Given the description of an element on the screen output the (x, y) to click on. 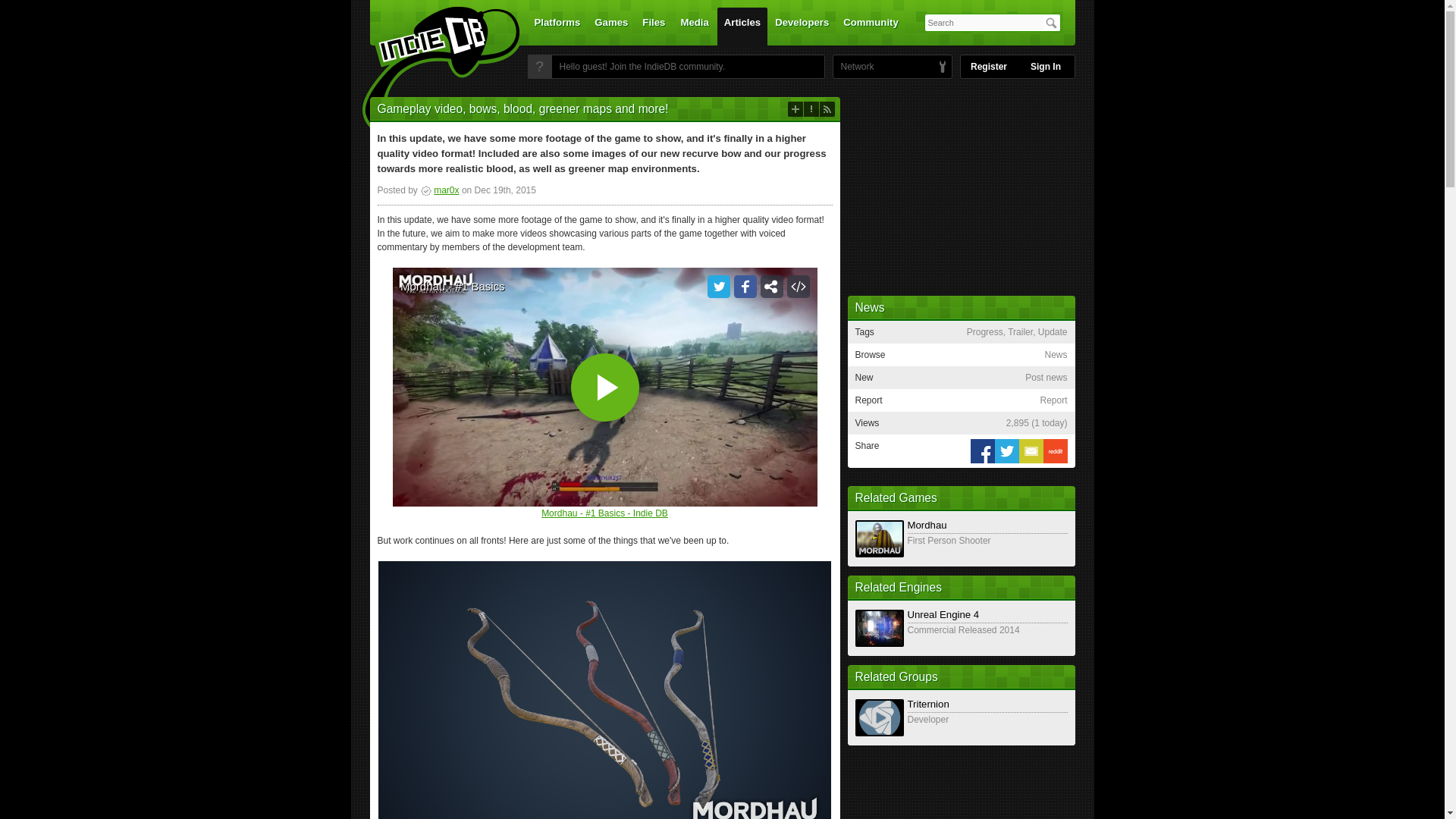
Community (870, 26)
Media (694, 26)
Search IndieDB (1050, 22)
Home (430, 70)
Article Manager (439, 190)
Games (611, 26)
Platforms (557, 26)
Articles (742, 26)
Developers (801, 26)
DBolical (852, 66)
